Given the description of an element on the screen output the (x, y) to click on. 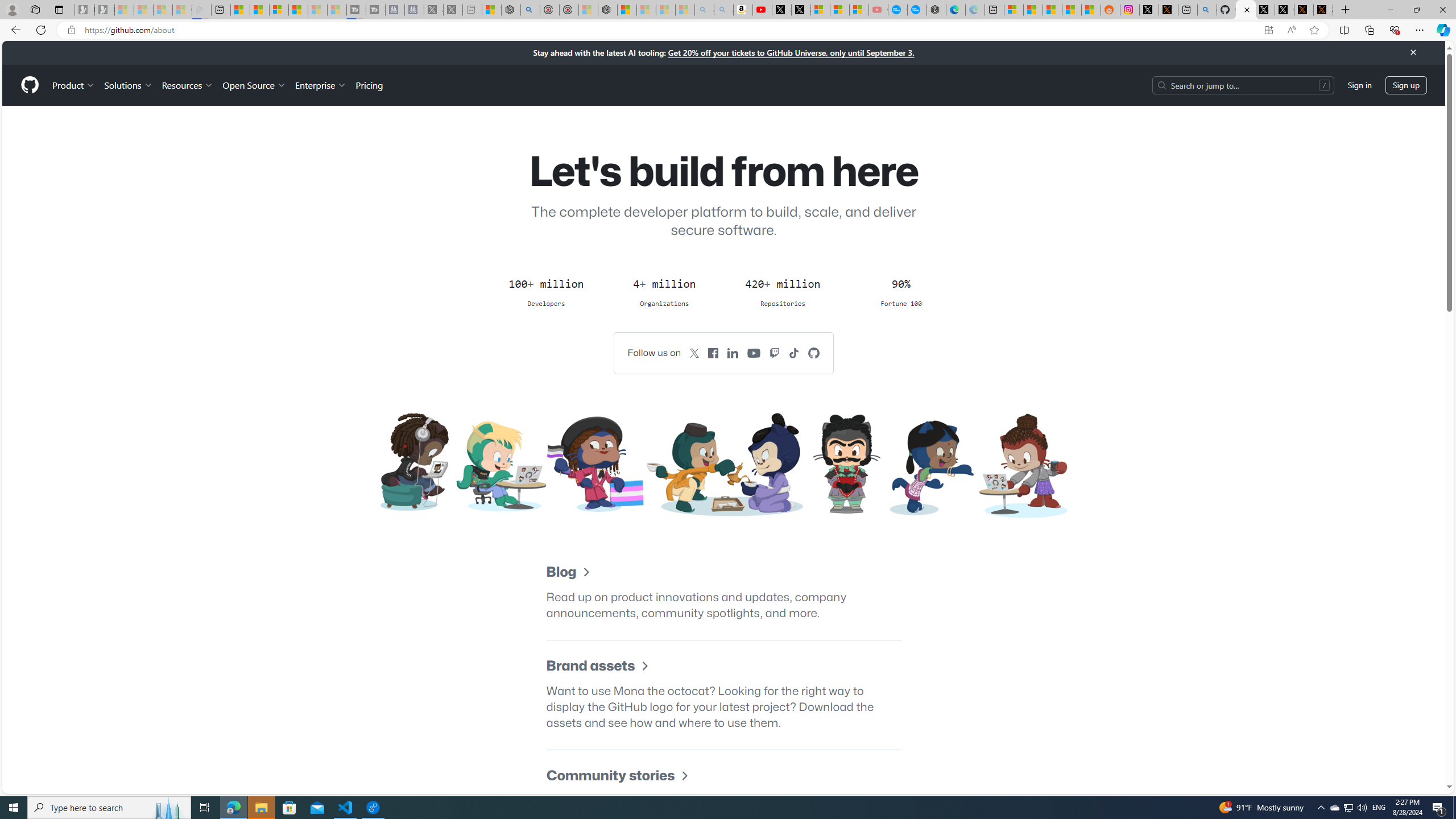
Pricing (368, 84)
